Given the description of an element on the screen output the (x, y) to click on. 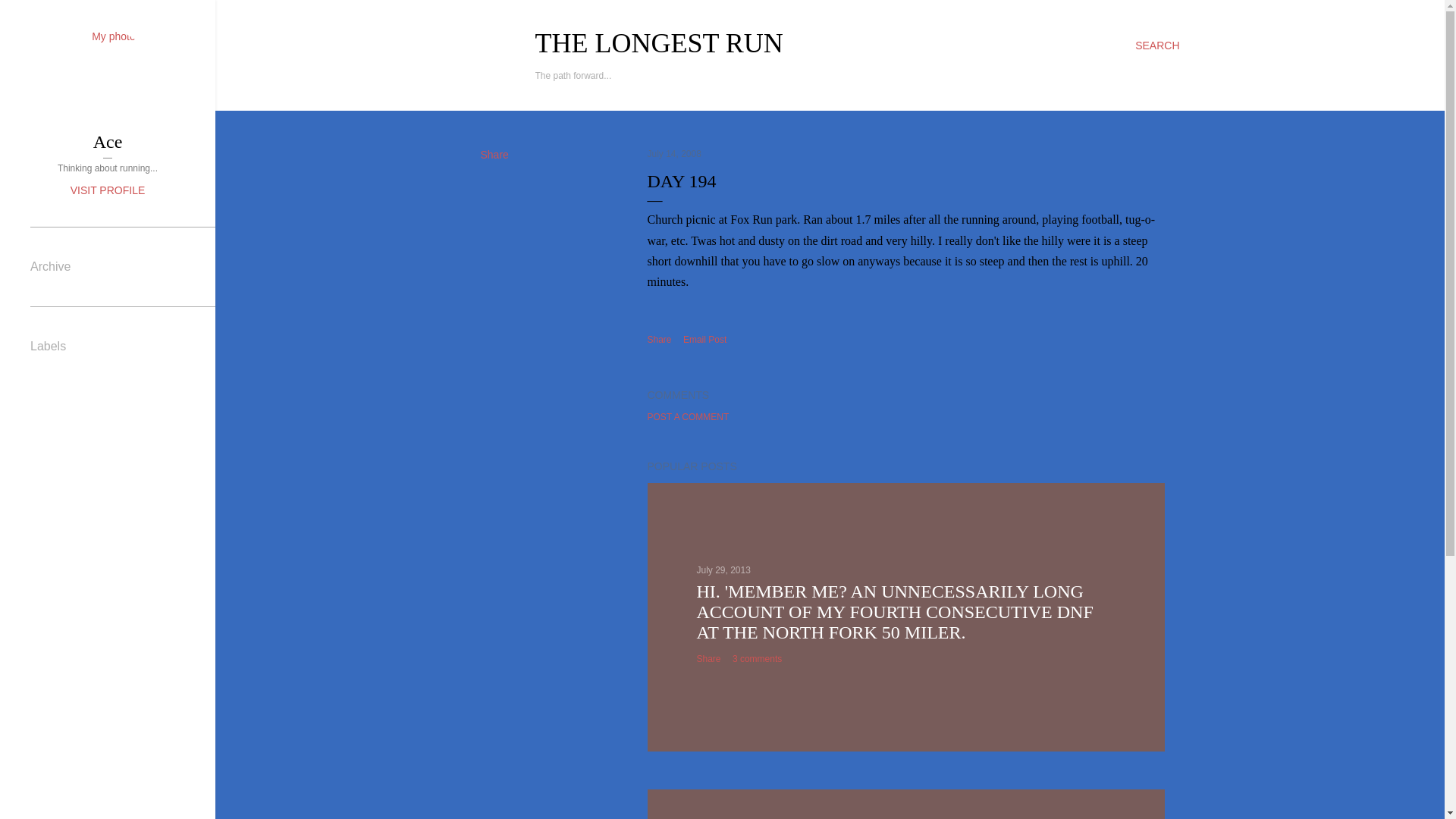
POST A COMMENT (688, 416)
Email Post (704, 339)
Share (494, 154)
3 comments (756, 658)
SEARCH (1157, 45)
July 14, 2008 (674, 153)
permanent link (722, 570)
Share (659, 339)
THE LONGEST RUN (659, 42)
permanent link (674, 153)
VISIT PROFILE (107, 190)
July 29, 2013 (722, 570)
Ace (107, 141)
Share (707, 658)
